Given the description of an element on the screen output the (x, y) to click on. 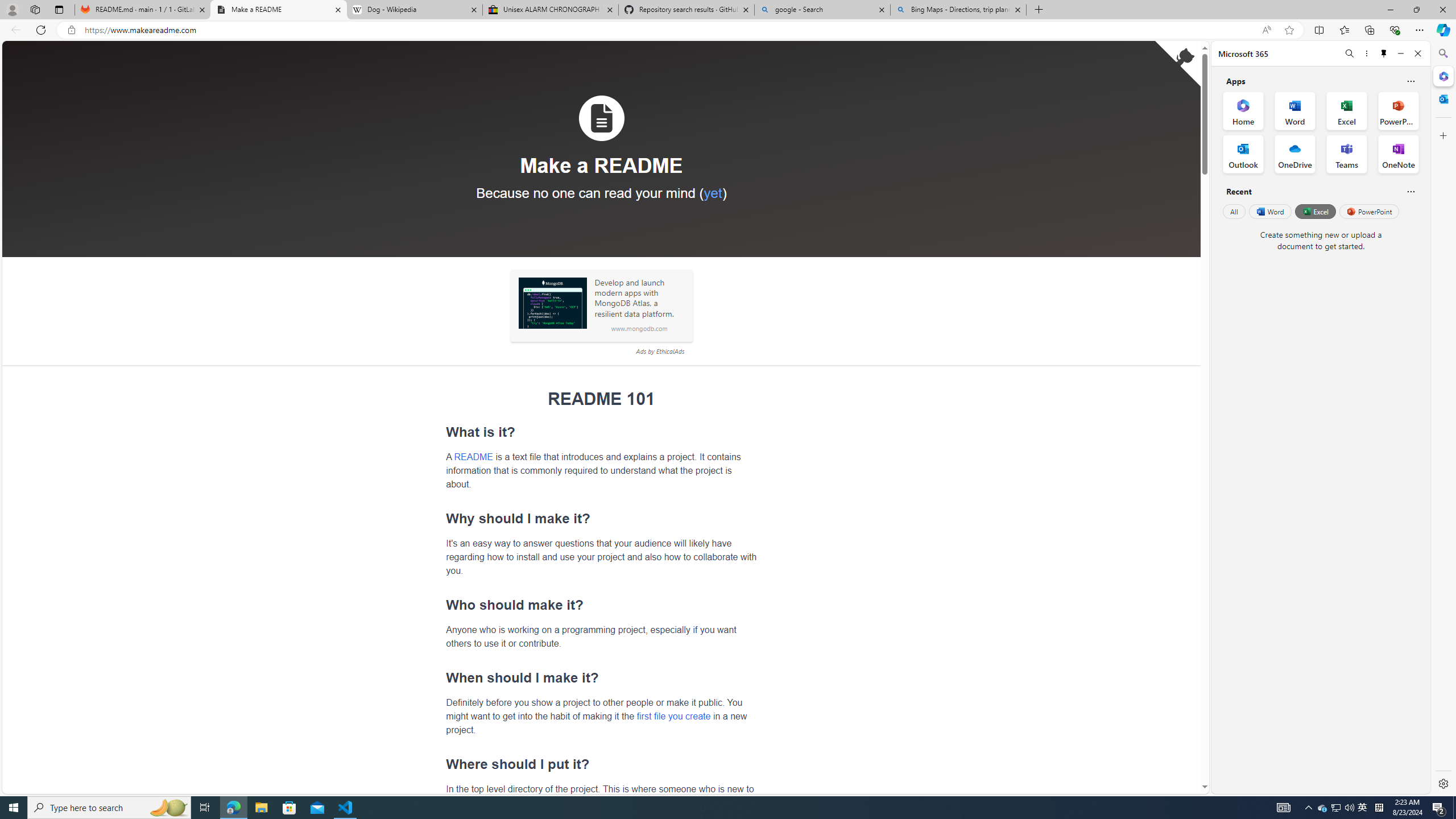
Make a README (277, 9)
All (1233, 210)
Word Office App (1295, 110)
Ads by EthicalAds (660, 351)
Sponsored: MongoDB (552, 302)
yet (712, 192)
README (473, 456)
Excel Office App (1346, 110)
Home Office App (1243, 110)
